Given the description of an element on the screen output the (x, y) to click on. 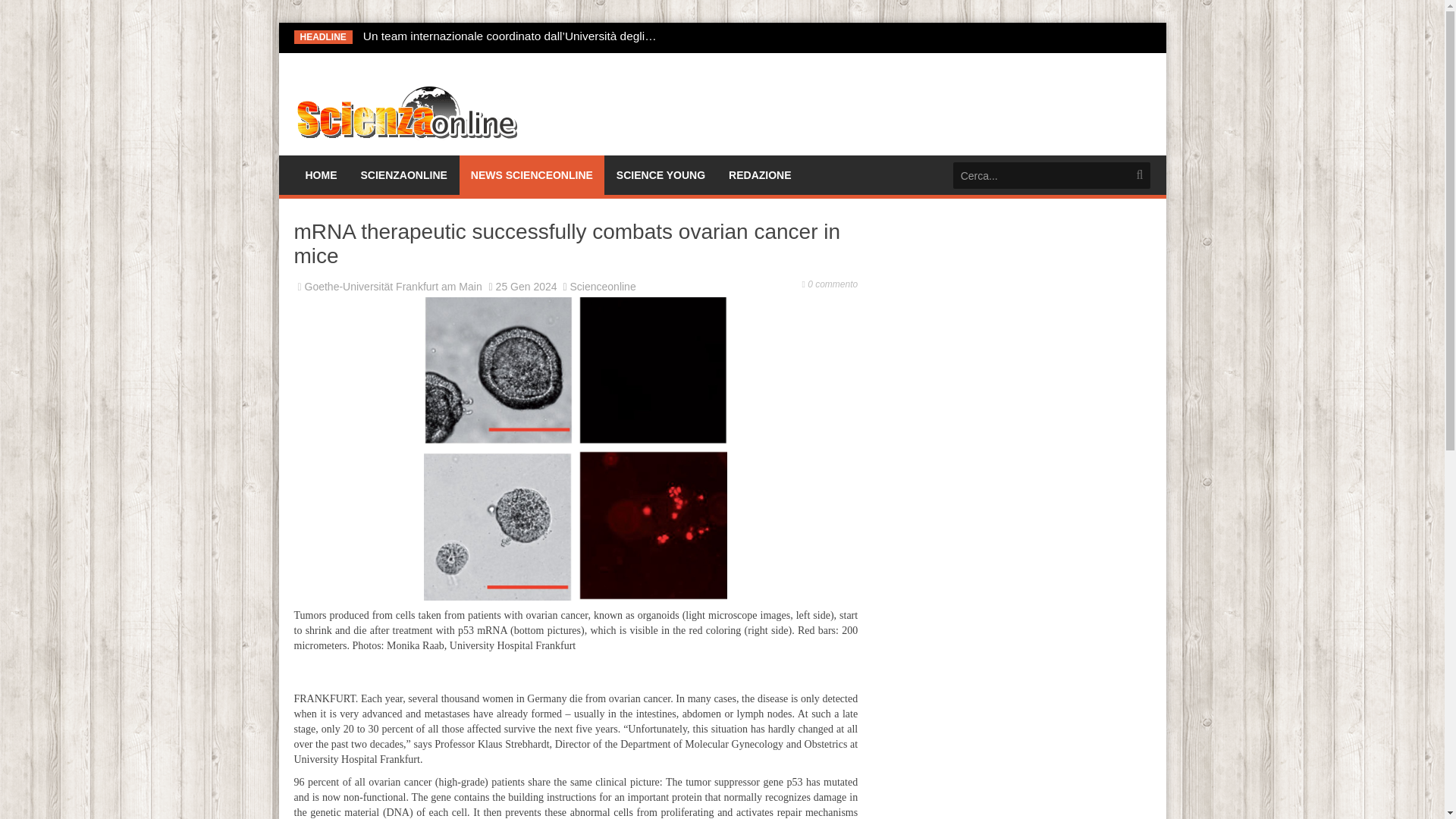
NEWS SCIENCEONLINE (531, 174)
SCIENZAONLINE (403, 174)
Scienceonline (603, 286)
REDAZIONE (758, 174)
0 commento (832, 284)
HOME (320, 174)
SCIENCE YOUNG (660, 174)
